Given the description of an element on the screen output the (x, y) to click on. 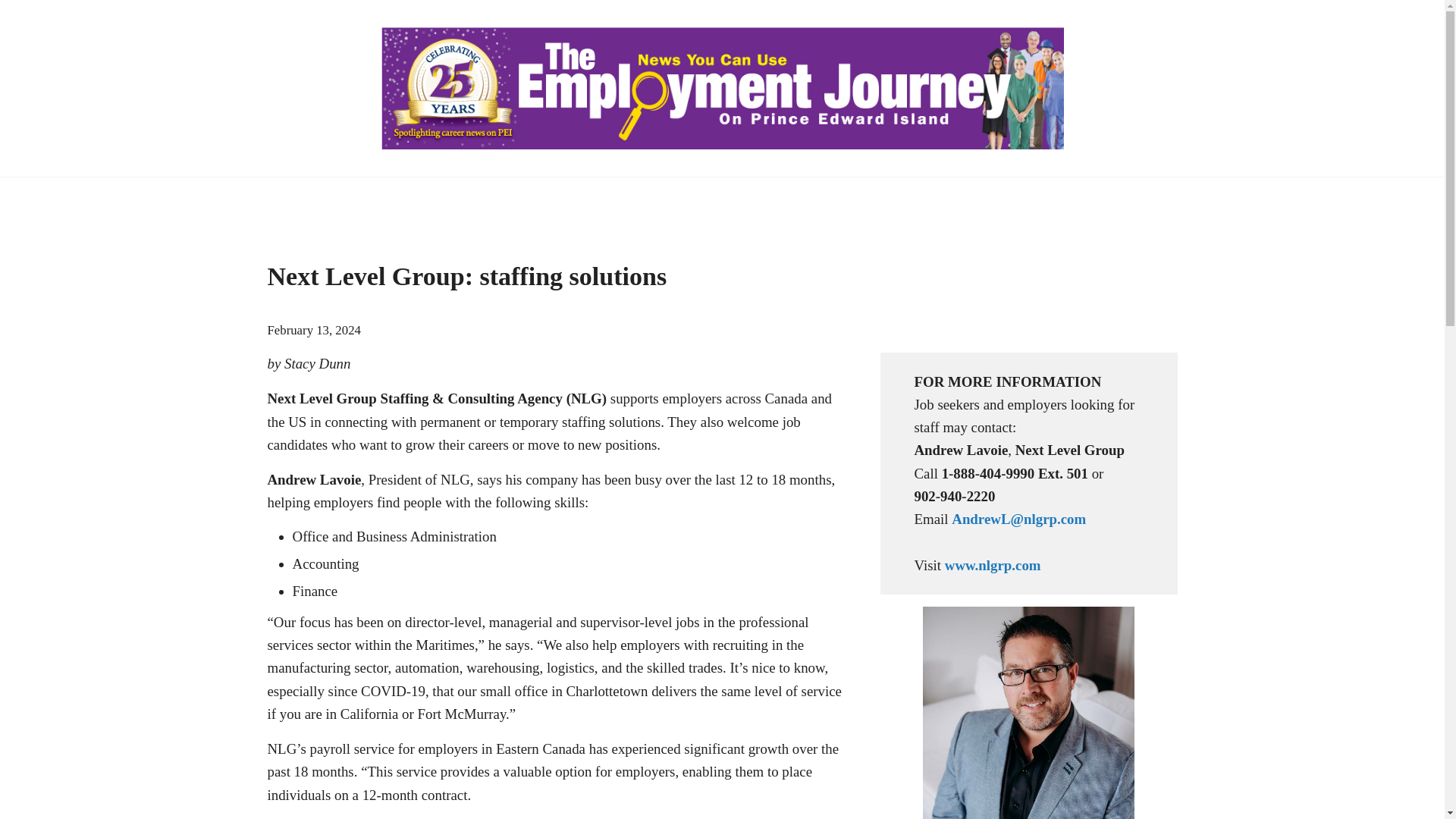
NEWSPAPERS (332, 198)
JOBS (437, 198)
